Given the description of an element on the screen output the (x, y) to click on. 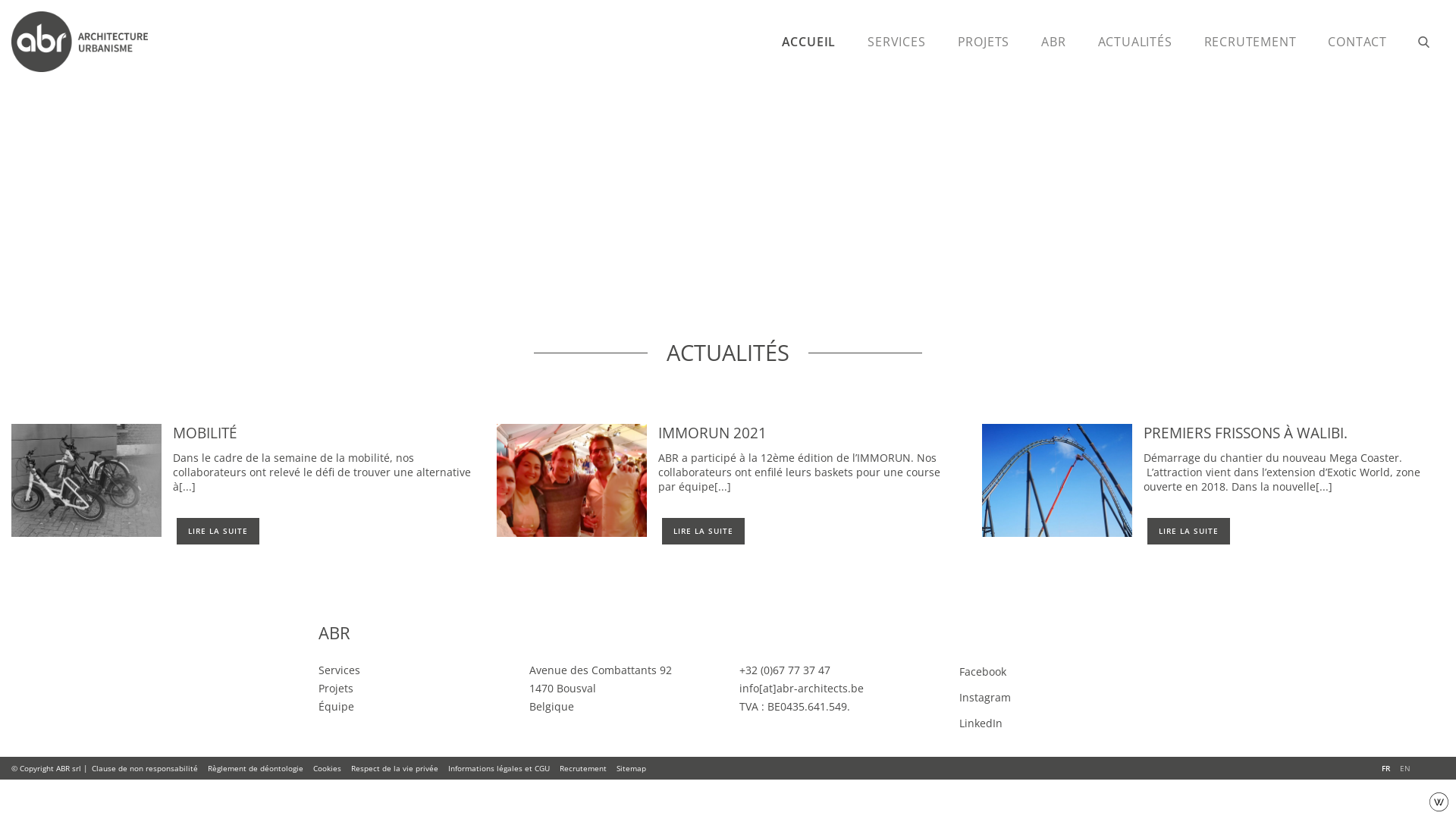
FR Element type: text (1385, 767)
Cookies Element type: text (327, 767)
CONTACT Element type: text (1356, 41)
+32 (0)67 77 37 47 Element type: text (784, 669)
EN Element type: text (1404, 767)
LIRE LA SUITE Element type: text (217, 530)
Sitemap Element type: text (631, 767)
SERVICES Element type: text (896, 41)
ABR Element type: text (1053, 41)
ACCUEIL Element type: text (808, 41)
info[at]abr-architects.be Element type: text (801, 687)
Instagram Element type: text (1043, 696)
Recrutement Element type: text (582, 767)
RECRUTEMENT Element type: text (1250, 41)
LIRE LA SUITE Element type: text (703, 530)
LIRE LA SUITE Element type: text (1188, 530)
PROJETS Element type: text (983, 41)
WE JUNE - Digital Agency Element type: hover (1438, 800)
IMMORUN 2021 Element type: text (712, 432)
Projets Element type: text (335, 687)
Services Element type: text (339, 669)
Home Element type: hover (87, 41)
LinkedIn Element type: text (1043, 722)
Facebook Element type: text (1043, 670)
